Given the description of an element on the screen output the (x, y) to click on. 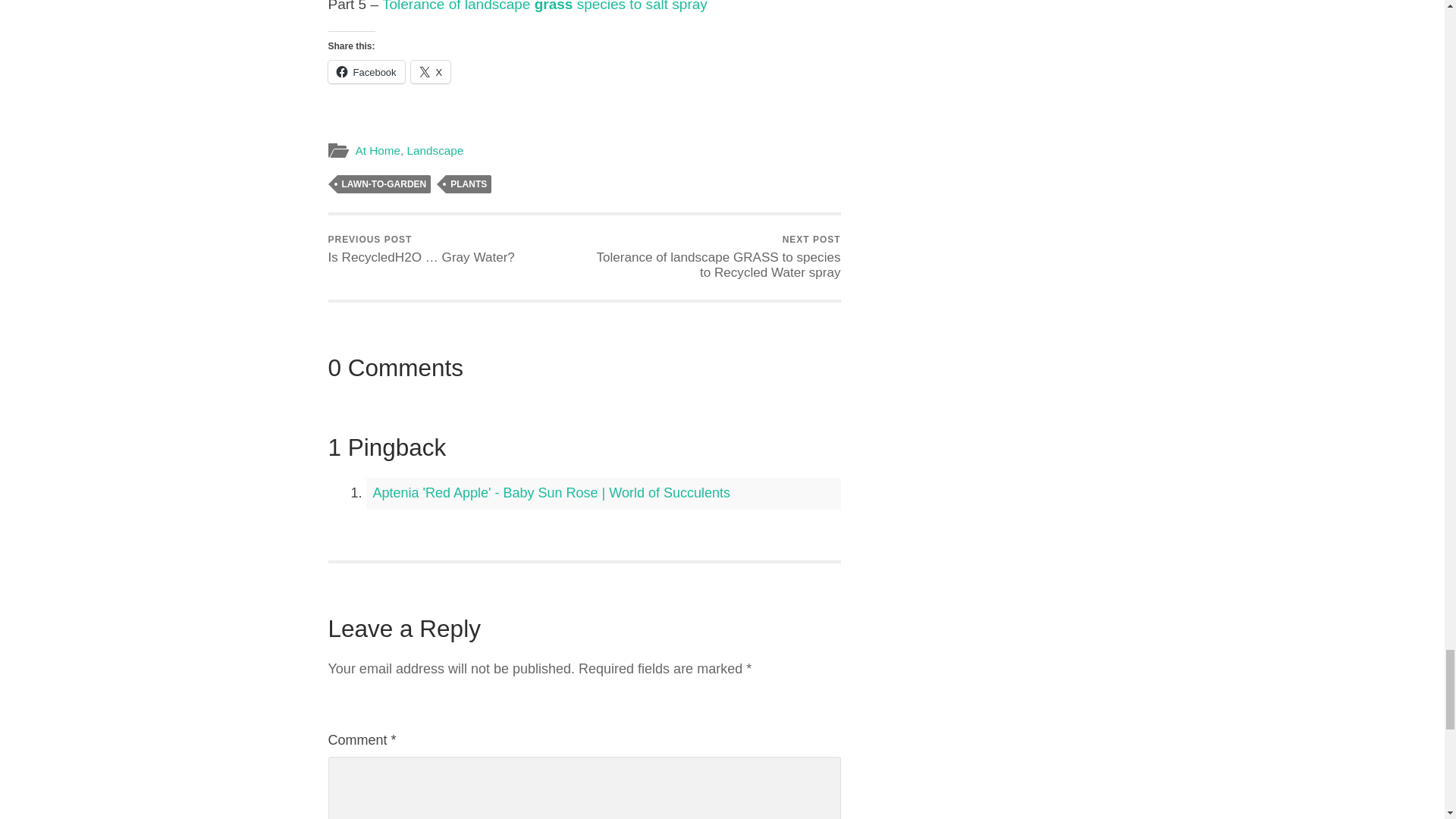
Click to share on X (430, 71)
Click to share on Facebook (365, 71)
